Given the description of an element on the screen output the (x, y) to click on. 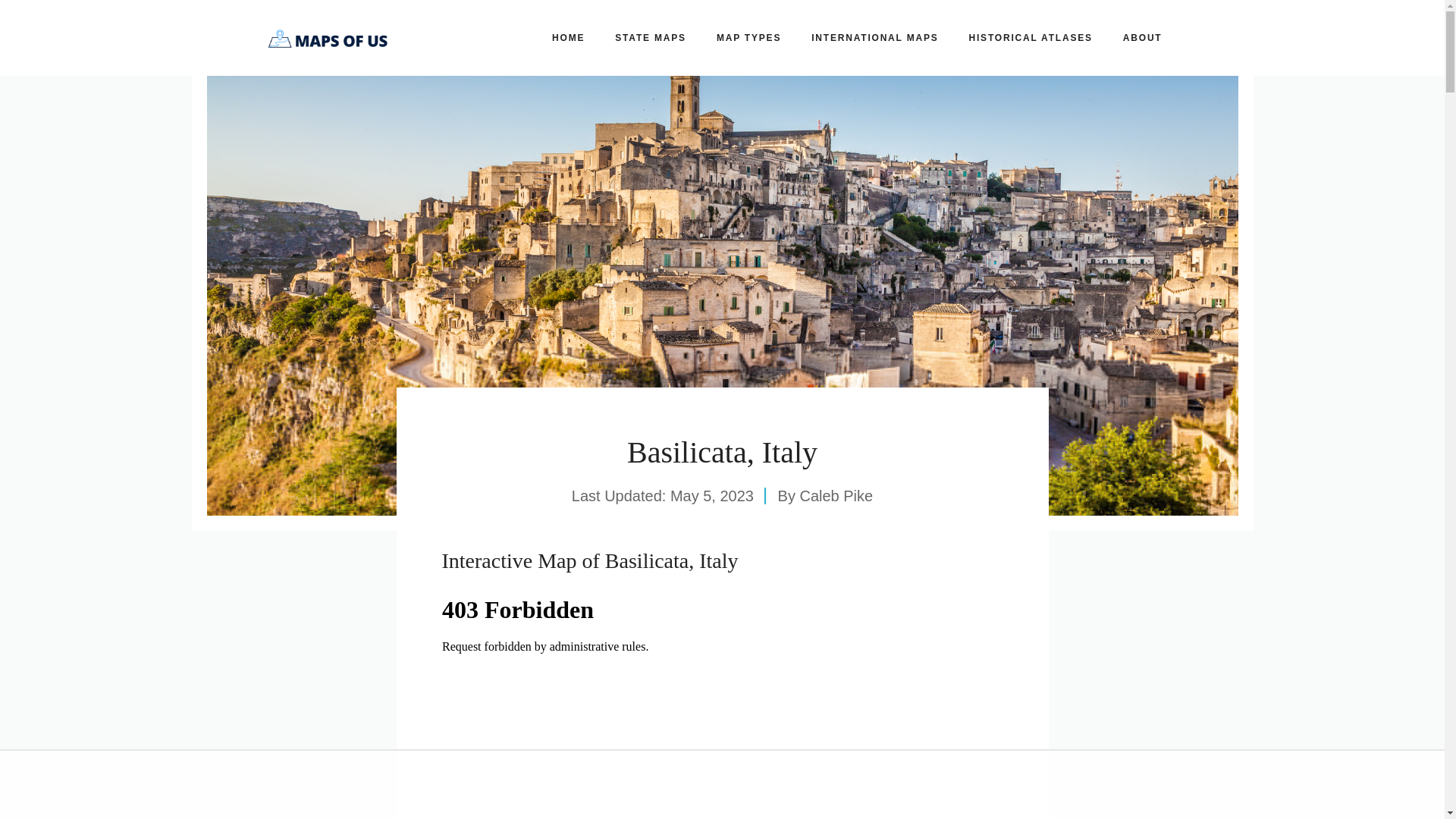
MAP TYPES (748, 37)
STATE MAPS (650, 37)
ABOUT (1142, 37)
Caleb Pike (835, 495)
HOME (568, 37)
INTERNATIONAL MAPS (874, 37)
HISTORICAL ATLASES (1030, 37)
